Given the description of an element on the screen output the (x, y) to click on. 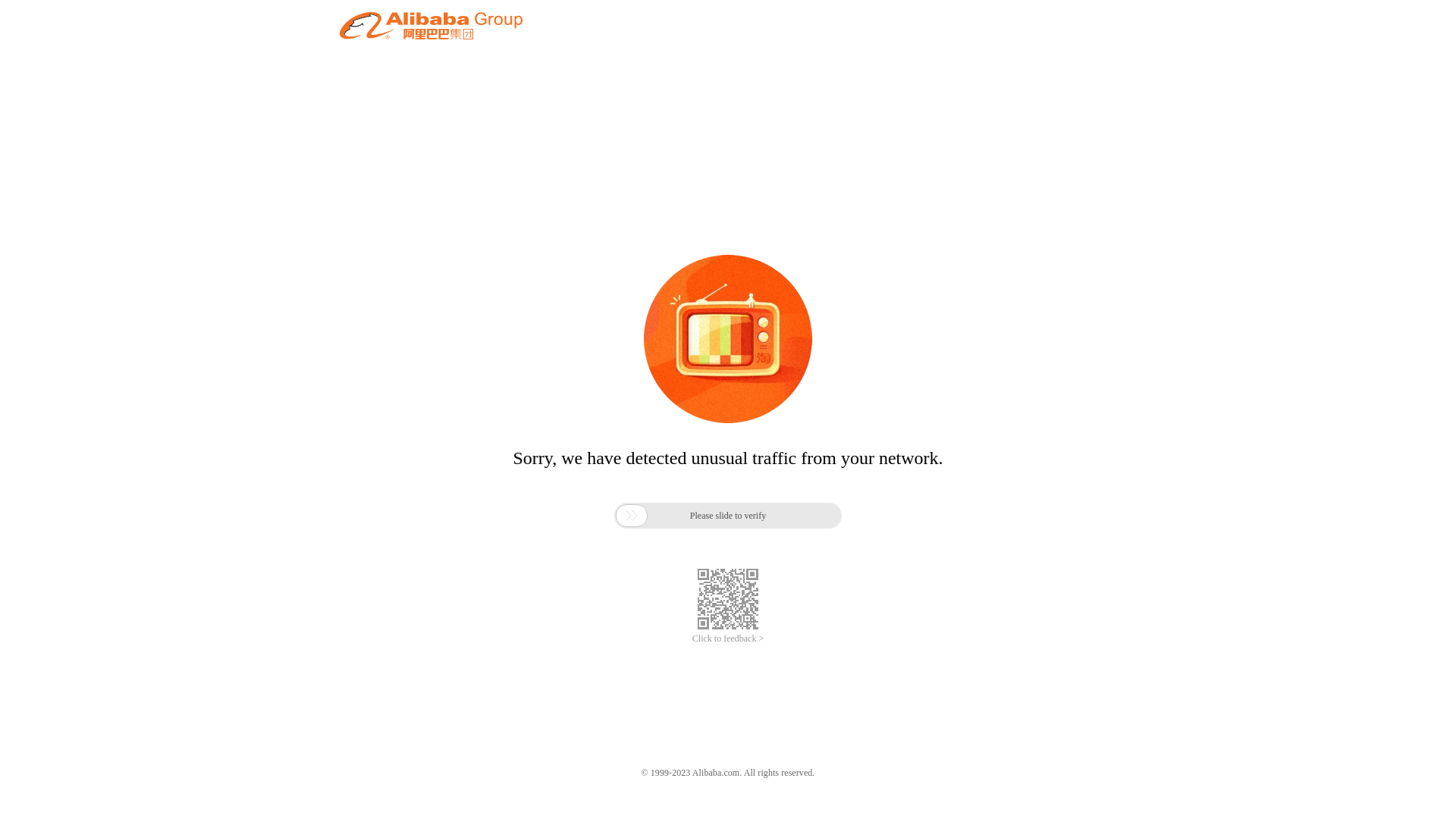
Click to feedback > Element type: text (727, 638)
